Given the description of an element on the screen output the (x, y) to click on. 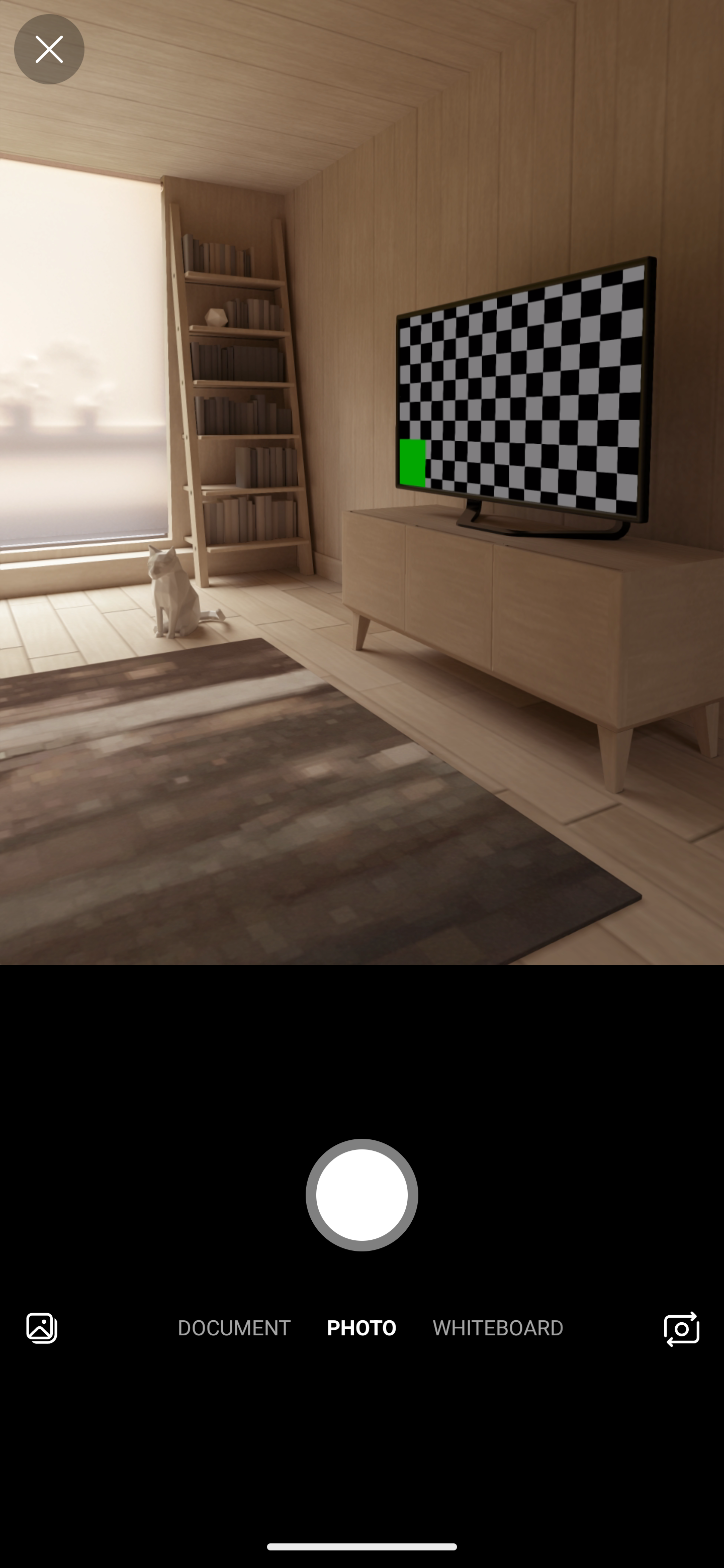
Close (49, 49)
Capture (361, 1194)
Import (42, 1328)
Flip Camera (681, 1328)
DOCUMENT (234, 1328)
PHOTO (361, 1328)
WHITEBOARD (498, 1328)
